Given the description of an element on the screen output the (x, y) to click on. 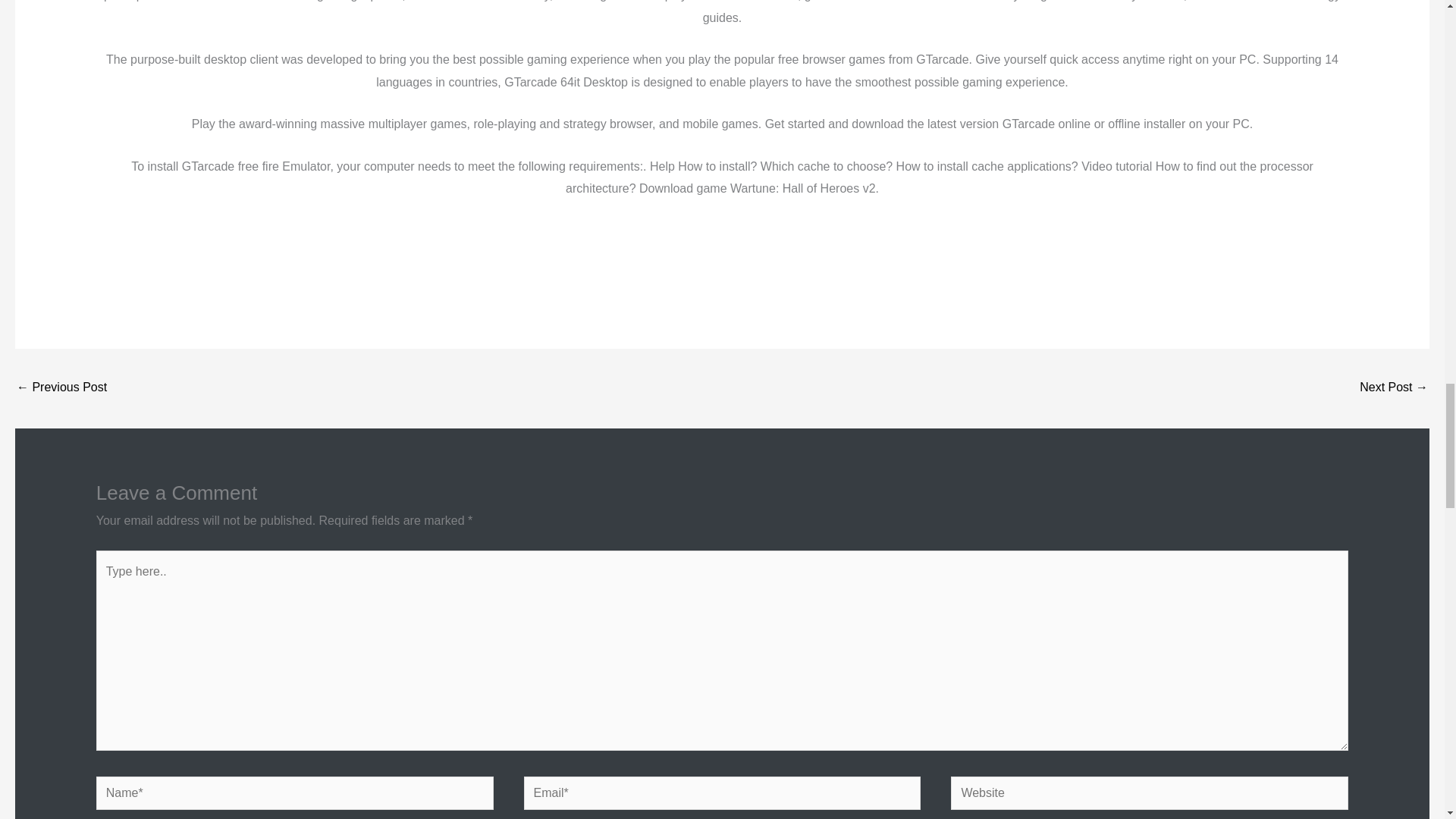
Bejeweled 3 free online no download popcap. Bejeweled 3 (1393, 388)
Besplatne igrice za joystick download pc (61, 388)
